Given the description of an element on the screen output the (x, y) to click on. 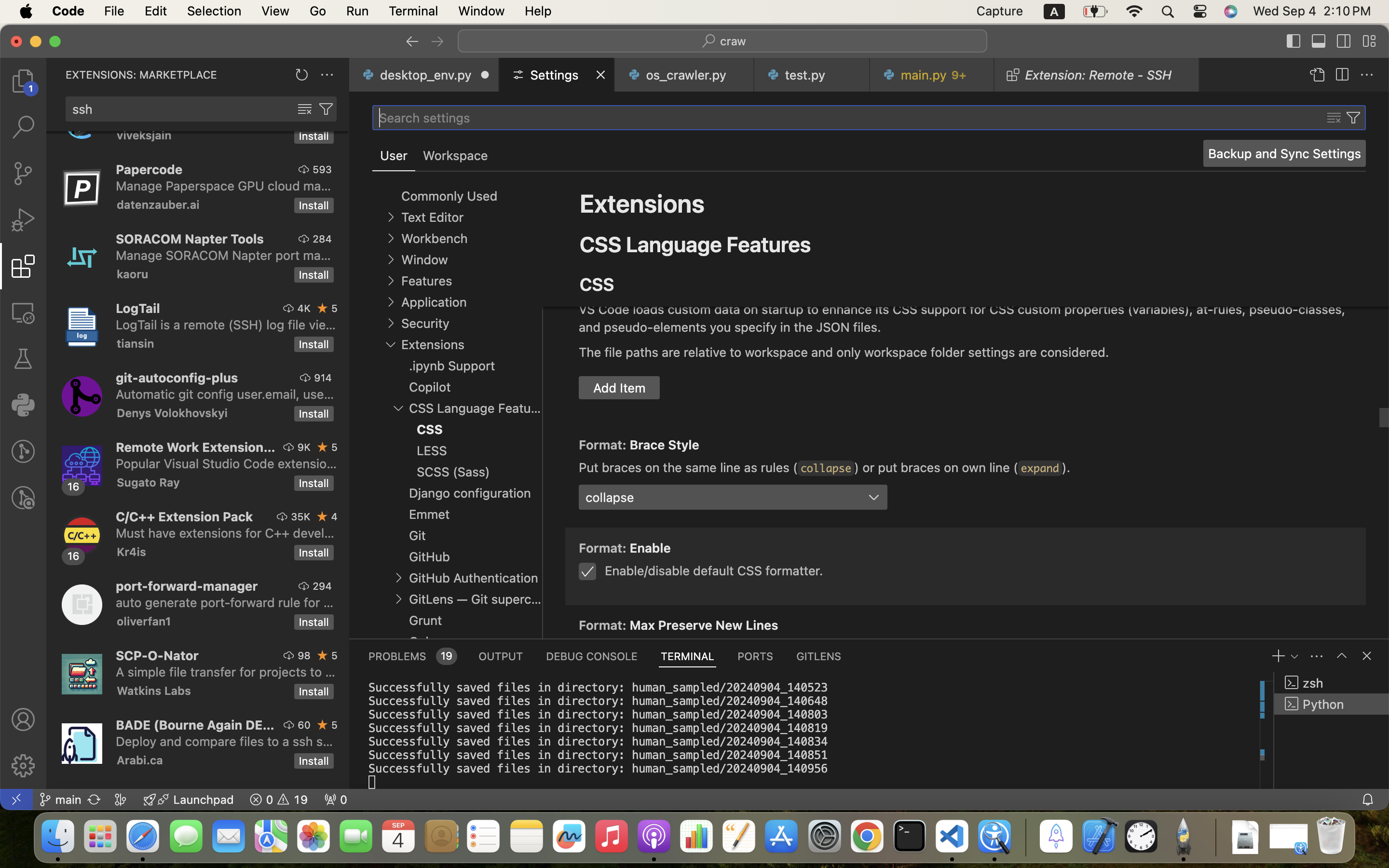
0.4285714328289032 Element type: AXDockItem (1024, 836)
C/C++ Extension Pack Element type: AXStaticText (184, 516)
9K Element type: AXStaticText (303, 446)
Watkins Labs Element type: AXStaticText (153, 690)
16 Element type: AXStaticText (73, 555)
